Given the description of an element on the screen output the (x, y) to click on. 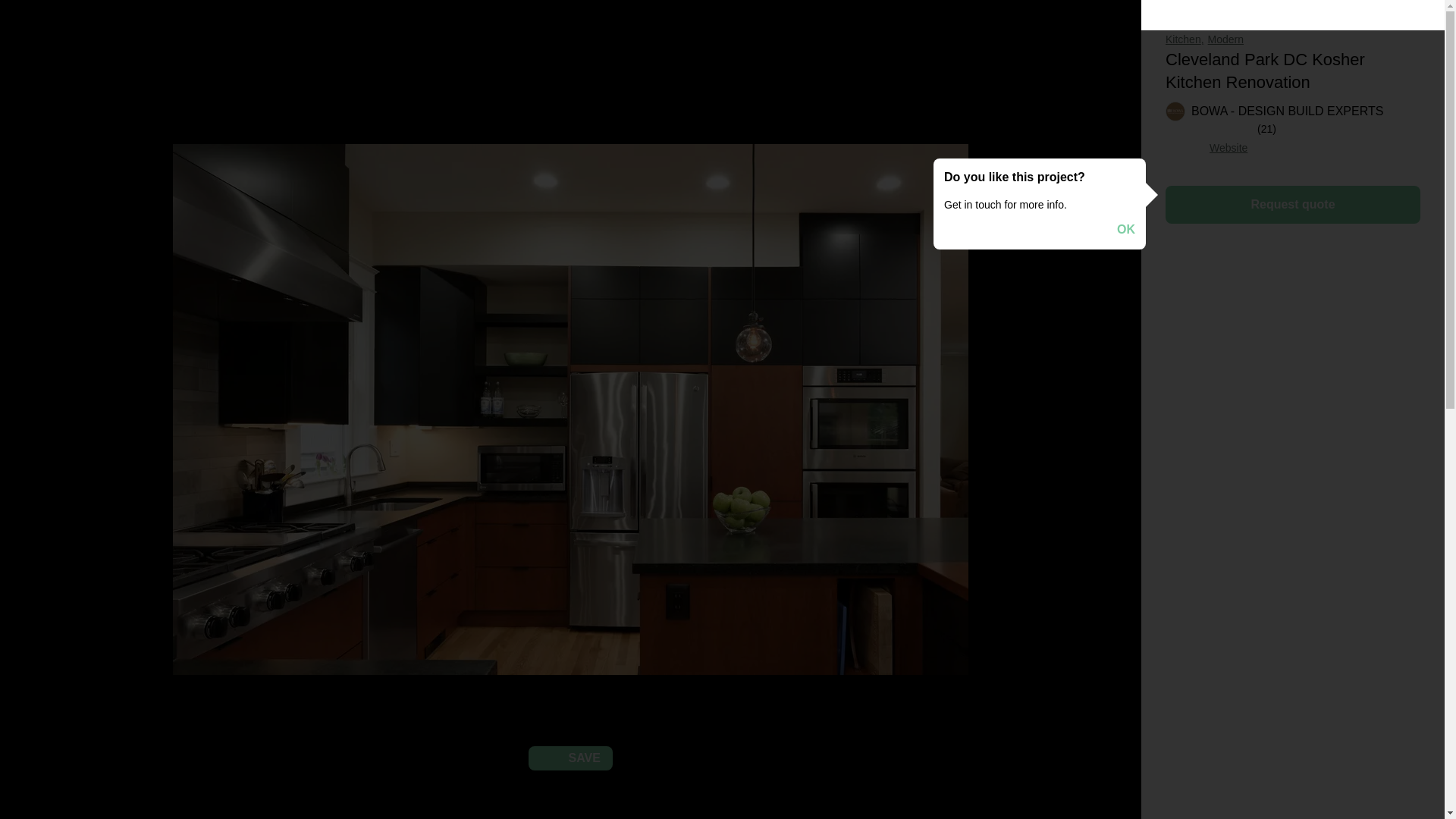
Kitchen (1185, 39)
BOWA - DESIGN BUILD EXPERTS (1274, 111)
Modern (1225, 39)
Cleveland Park DC Kosher Kitchen Renovation (1265, 70)
